Given the description of an element on the screen output the (x, y) to click on. 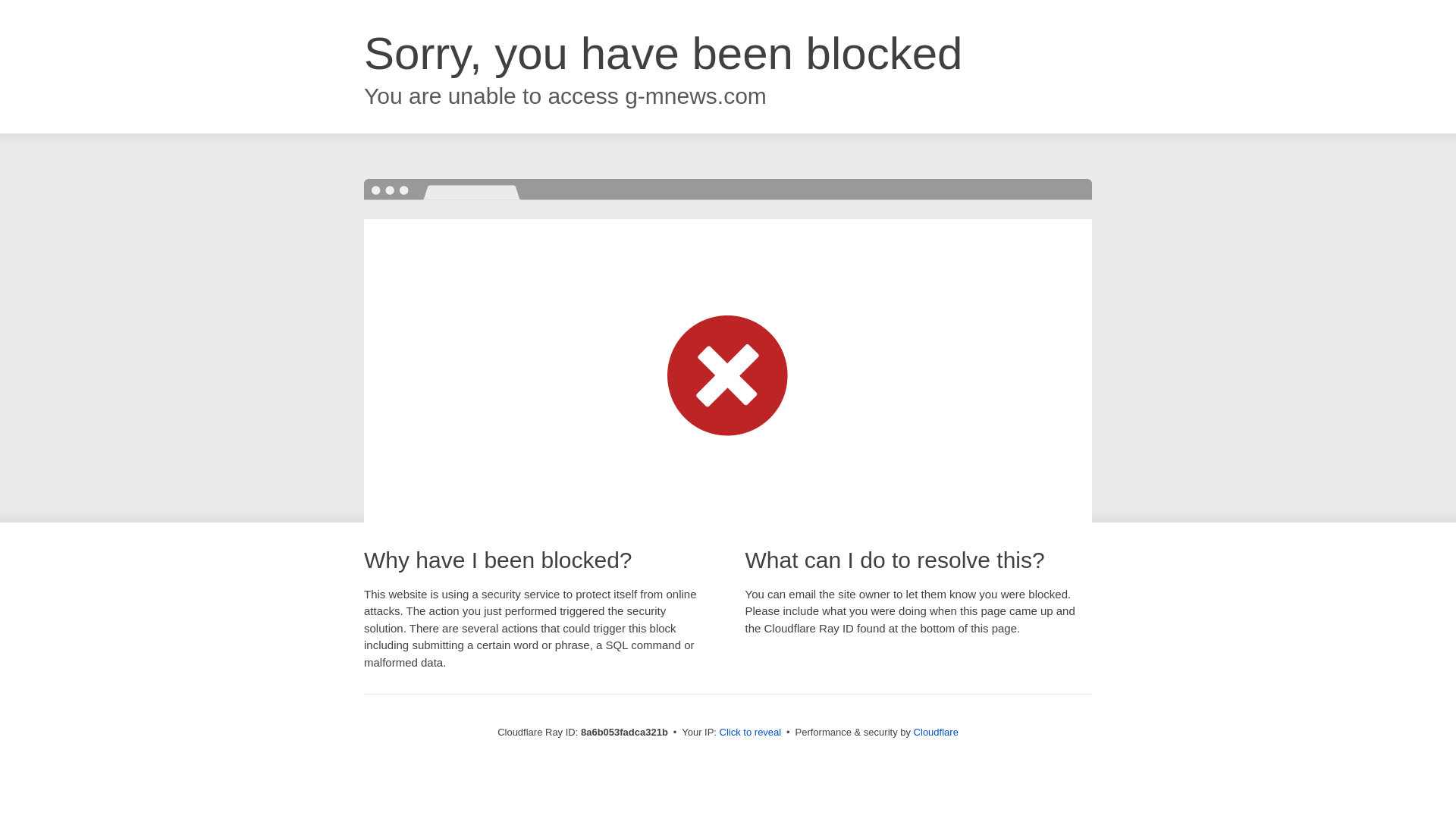
Click to reveal (750, 732)
Cloudflare (936, 731)
